Given the description of an element on the screen output the (x, y) to click on. 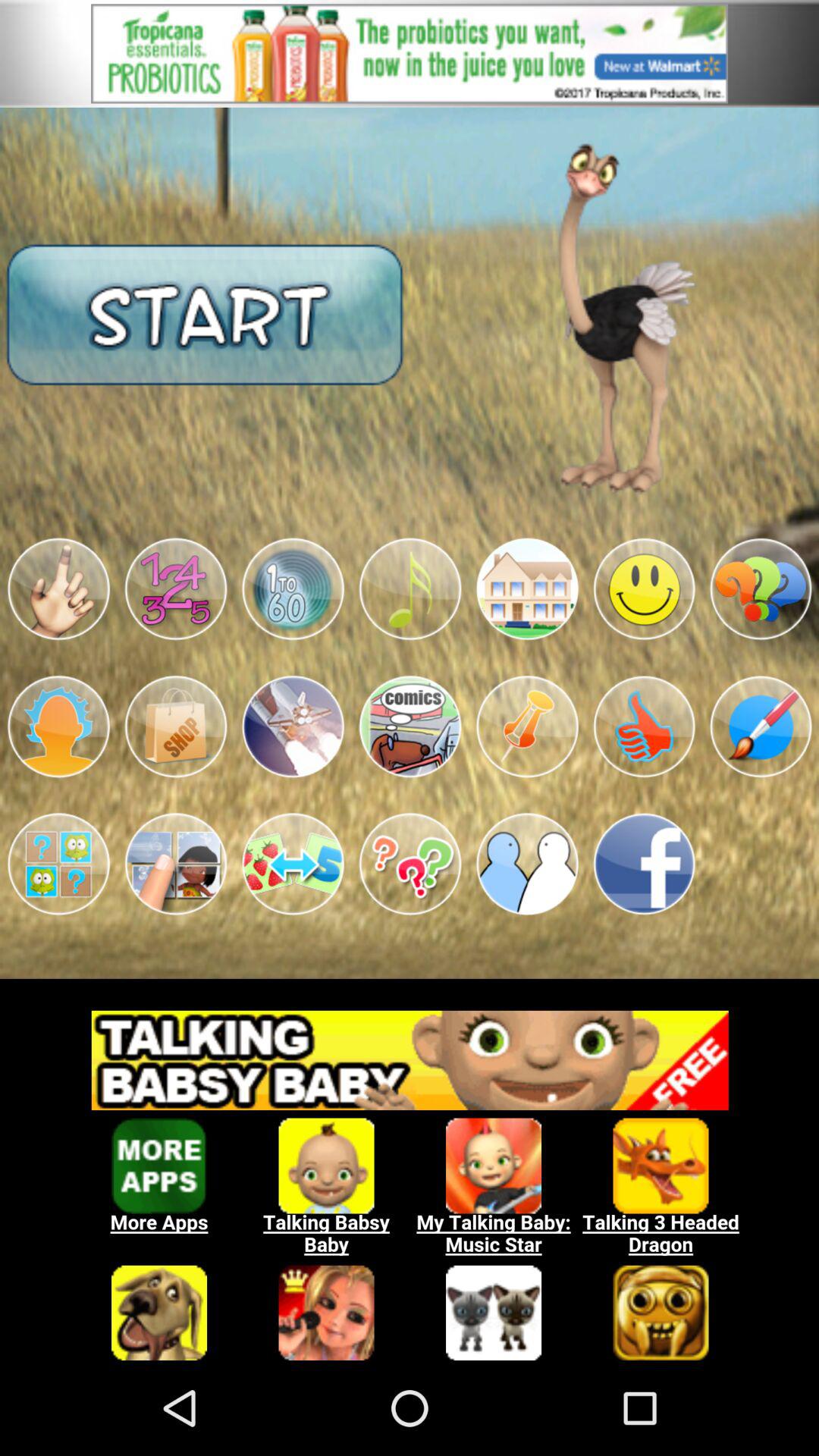
for image (175, 589)
